Given the description of an element on the screen output the (x, y) to click on. 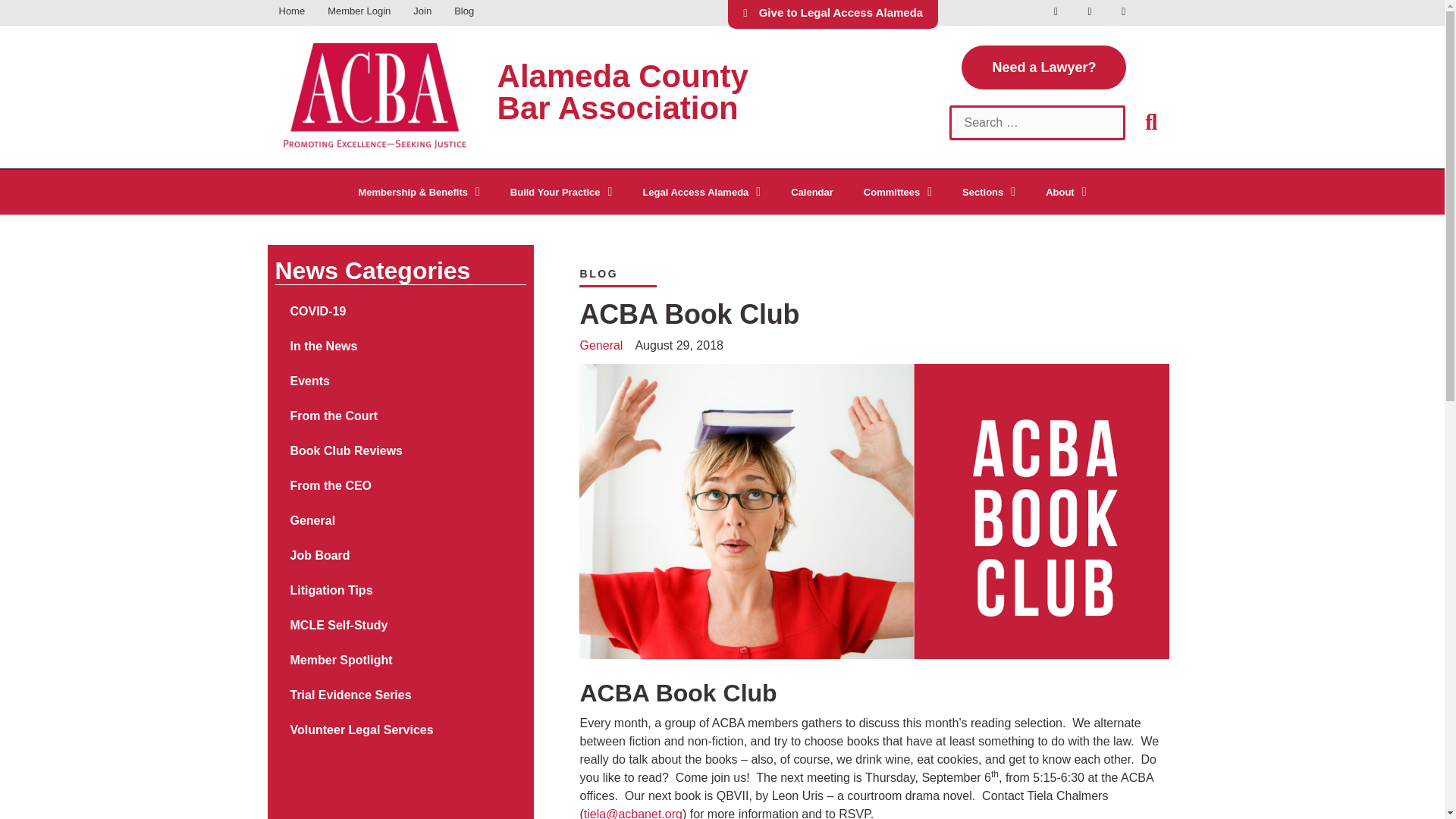
Member Login (358, 12)
Blog (463, 12)
Join (421, 12)
Legal Access Alameda (701, 192)
Home (290, 12)
Need a Lawyer? (1043, 67)
Committees (897, 192)
Give to Legal Access Alameda (832, 14)
Calendar (812, 192)
Build Your Practice (561, 192)
